Given the description of an element on the screen output the (x, y) to click on. 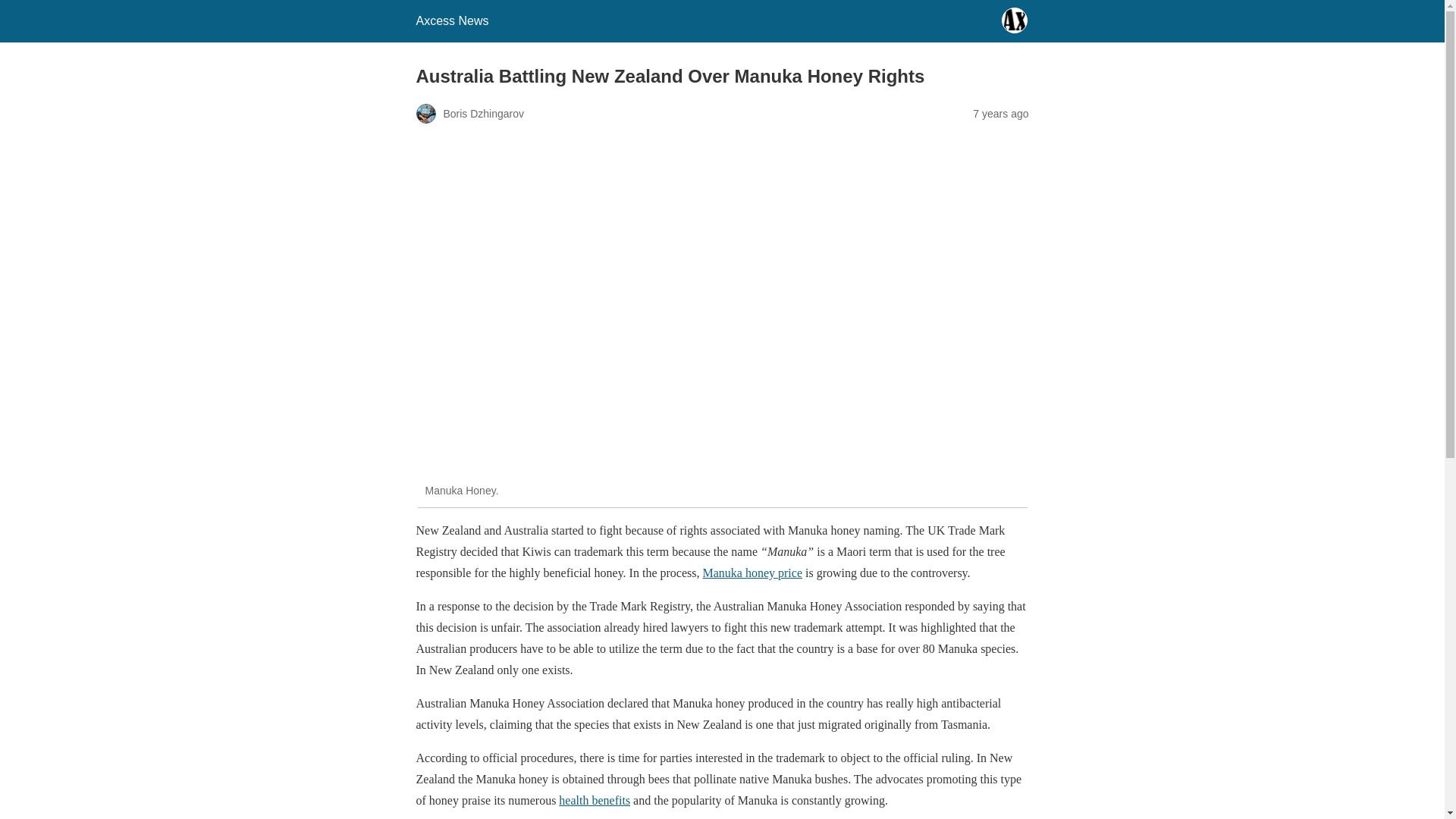
Axcess News (450, 20)
health benefits (594, 799)
Manuka honey price (751, 572)
